Given the description of an element on the screen output the (x, y) to click on. 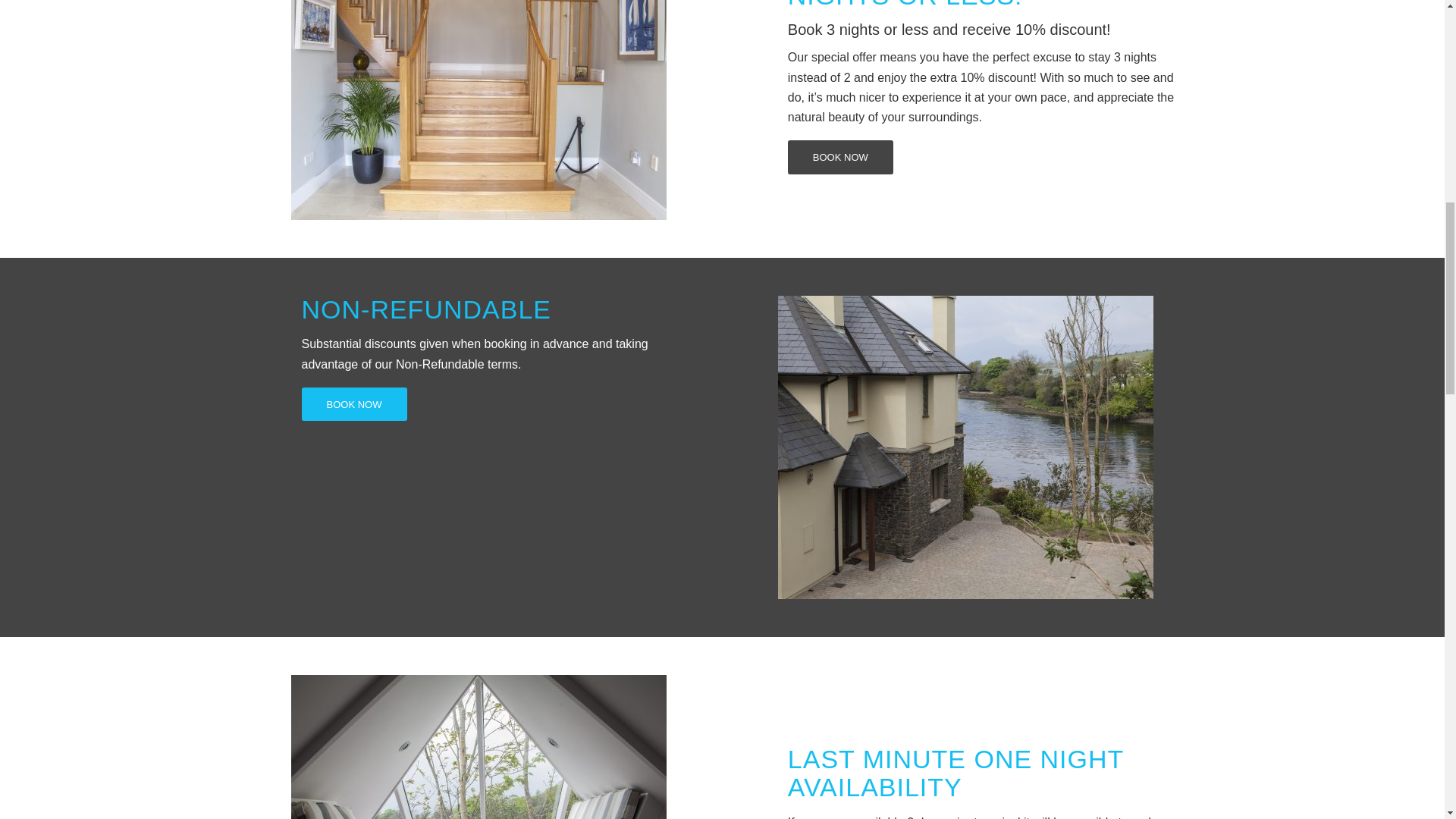
BOOK NOW (840, 157)
BOOK NOW (354, 404)
